Given the description of an element on the screen output the (x, y) to click on. 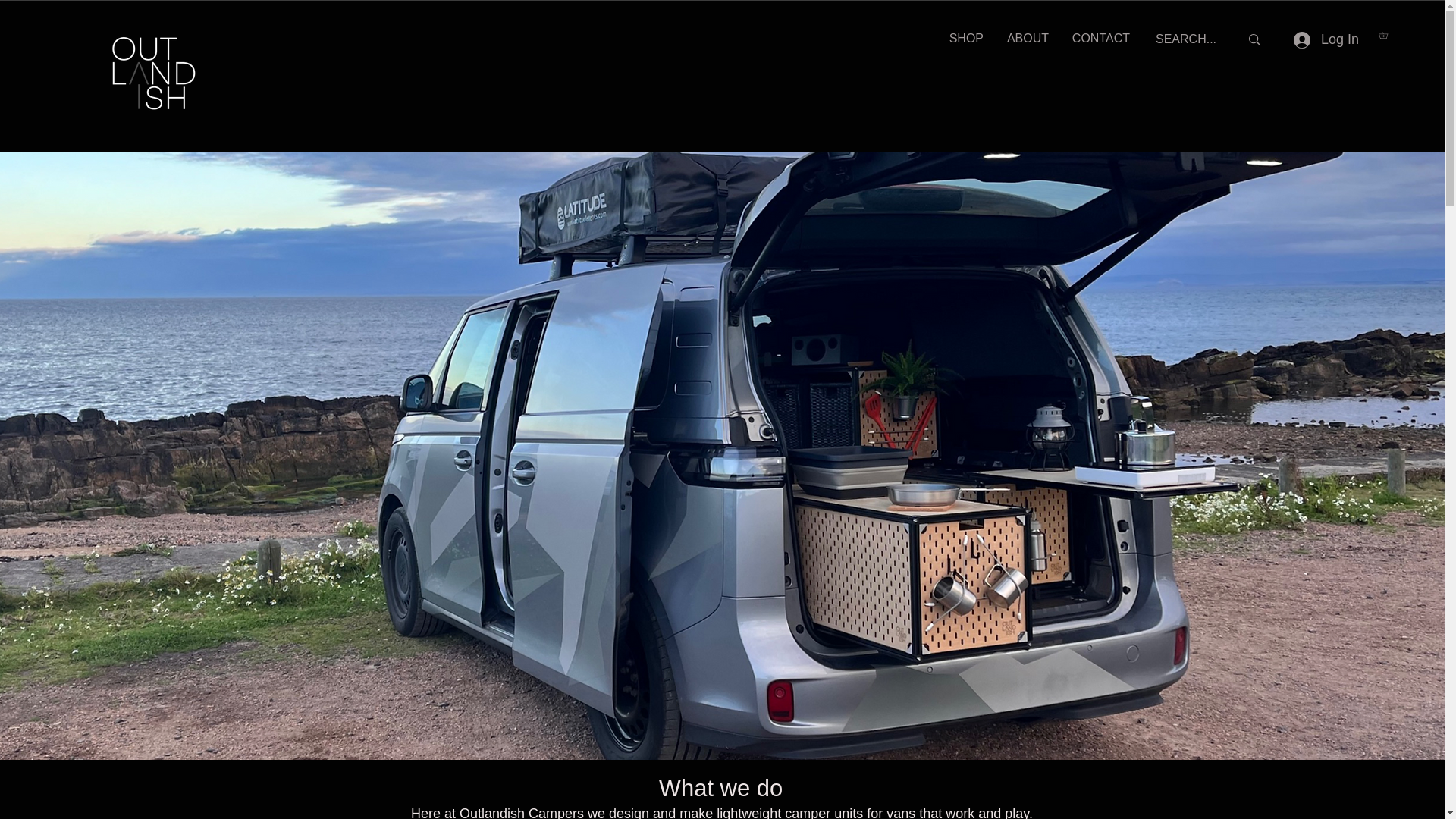
ABOUT (1026, 37)
Log In (1326, 39)
CONTACT (1100, 37)
SHOP (965, 37)
